Given the description of an element on the screen output the (x, y) to click on. 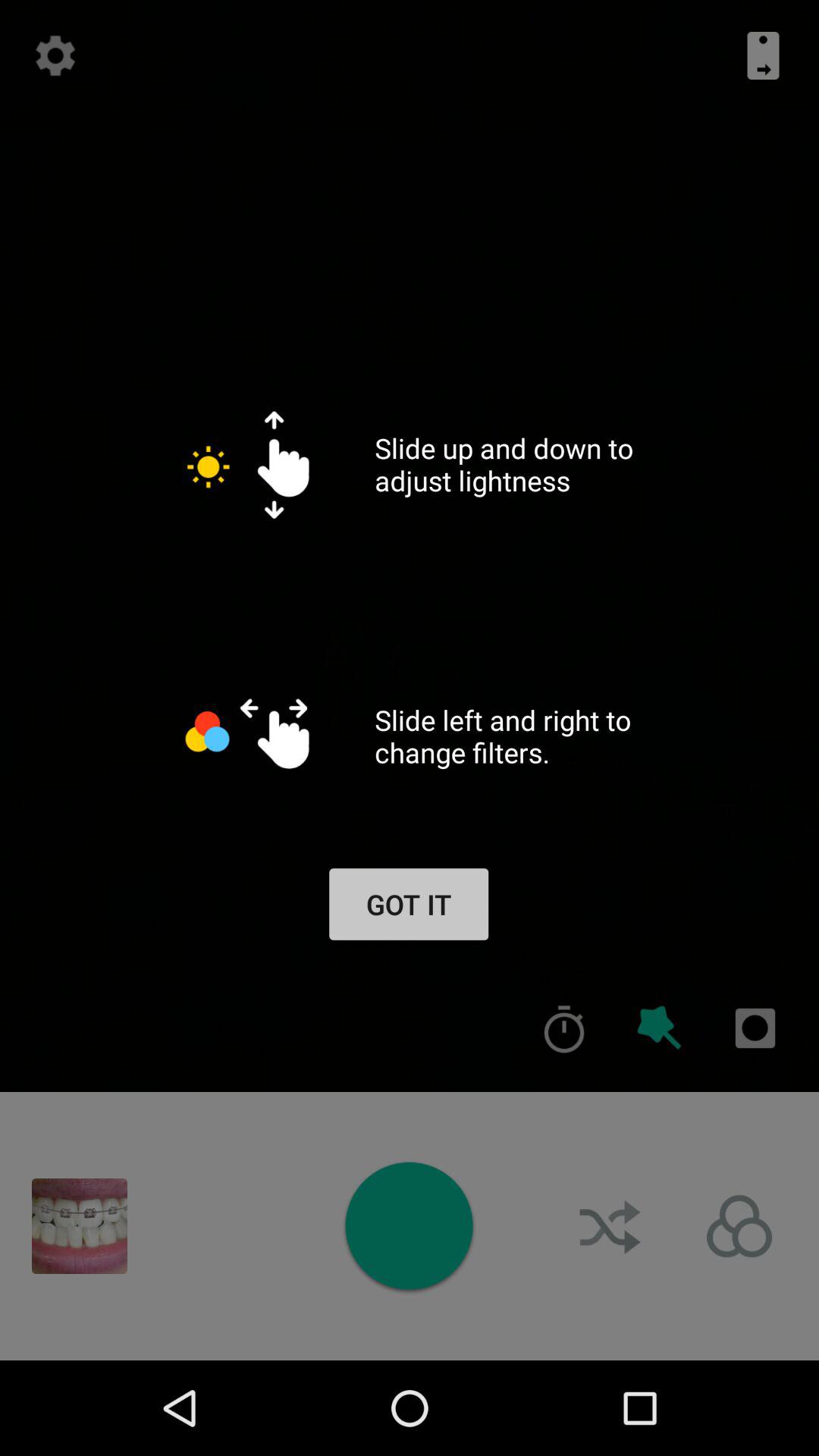
refresh (55, 55)
